Given the description of an element on the screen output the (x, y) to click on. 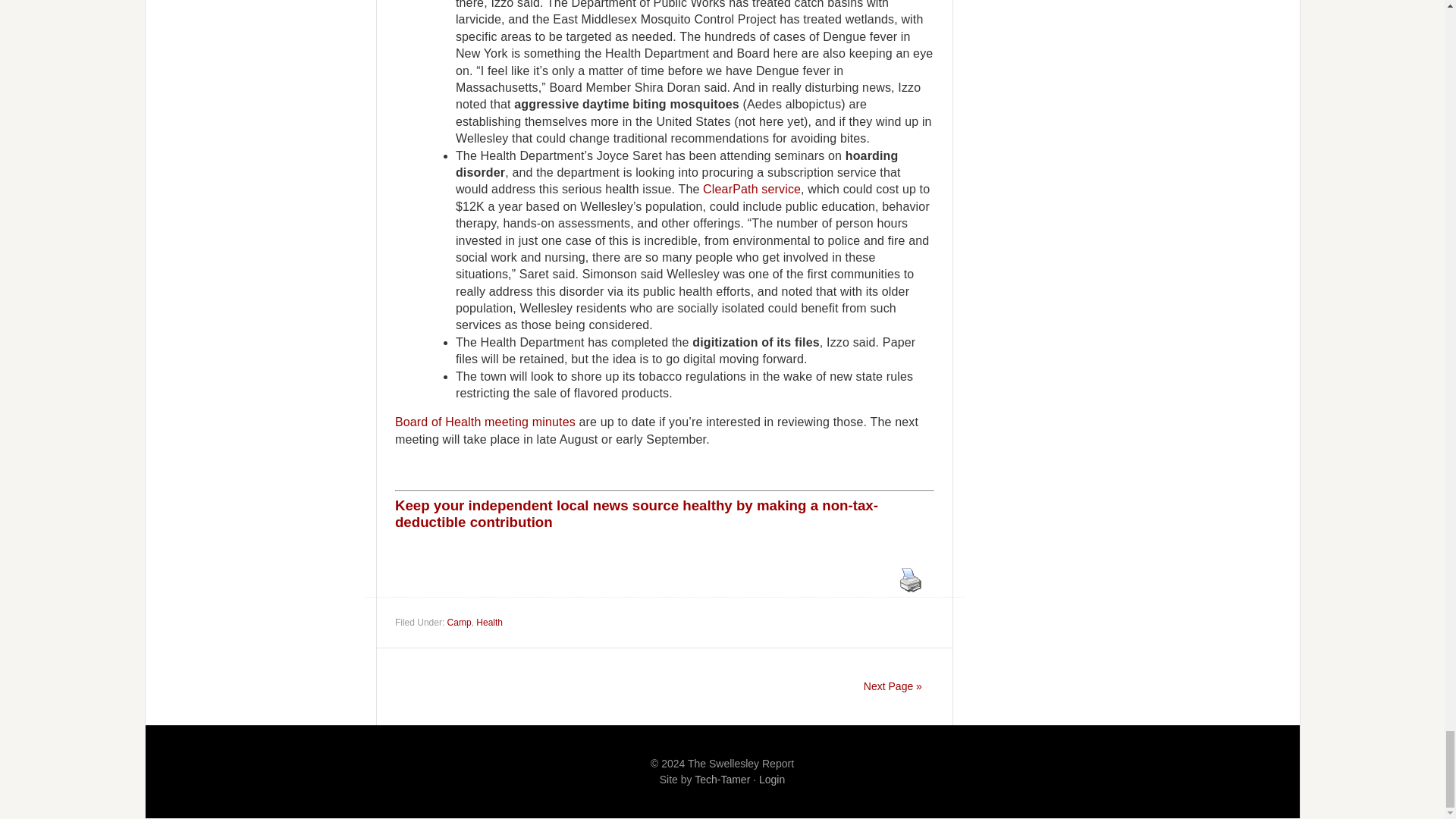
Print Content (910, 580)
